Given the description of an element on the screen output the (x, y) to click on. 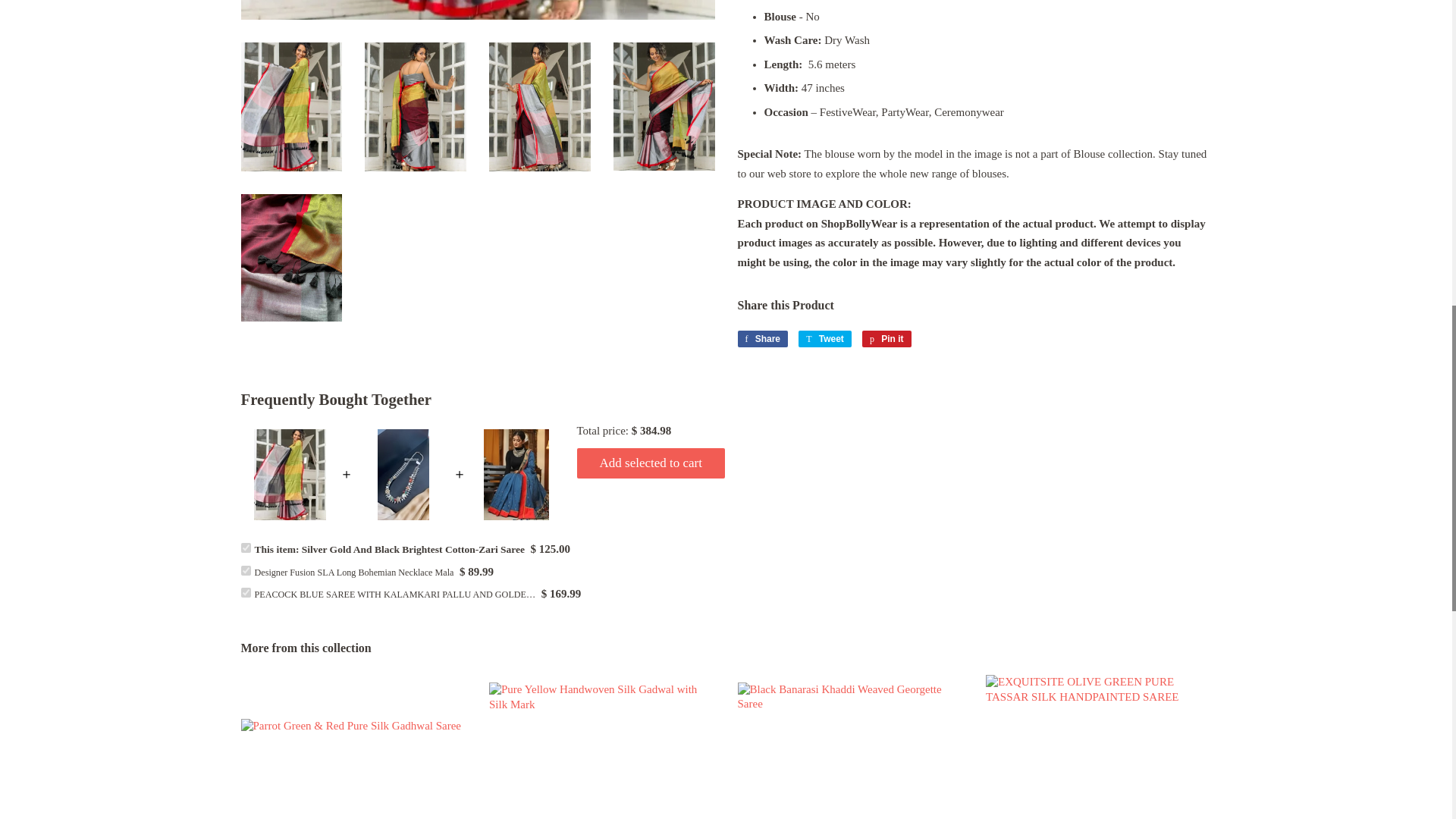
on (245, 570)
Tweet on Twitter (824, 338)
on (245, 547)
Pin on Pinterest (886, 338)
on (245, 592)
Share on Facebook (761, 338)
